Given the description of an element on the screen output the (x, y) to click on. 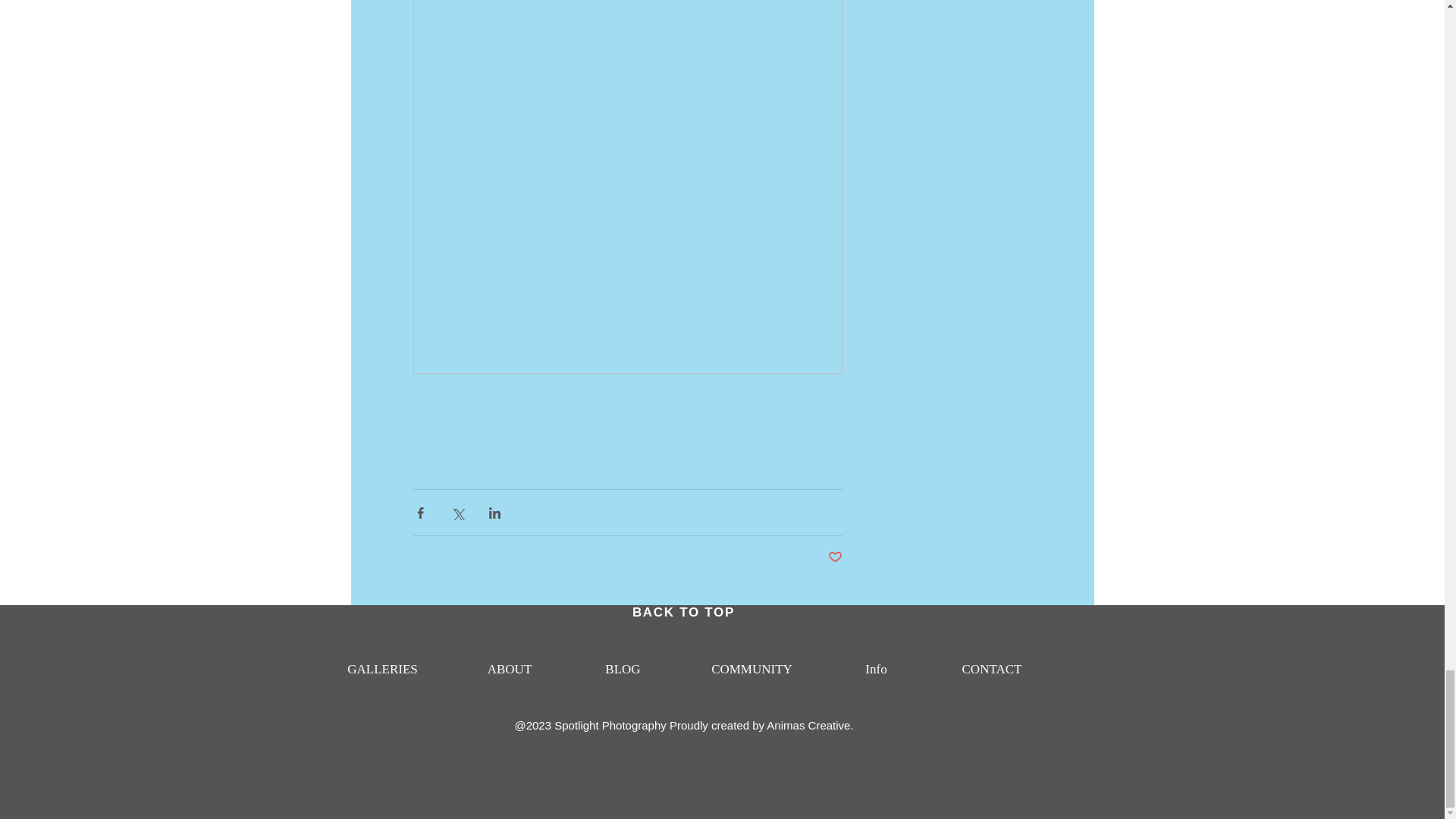
Post not marked as liked (835, 557)
